Given the description of an element on the screen output the (x, y) to click on. 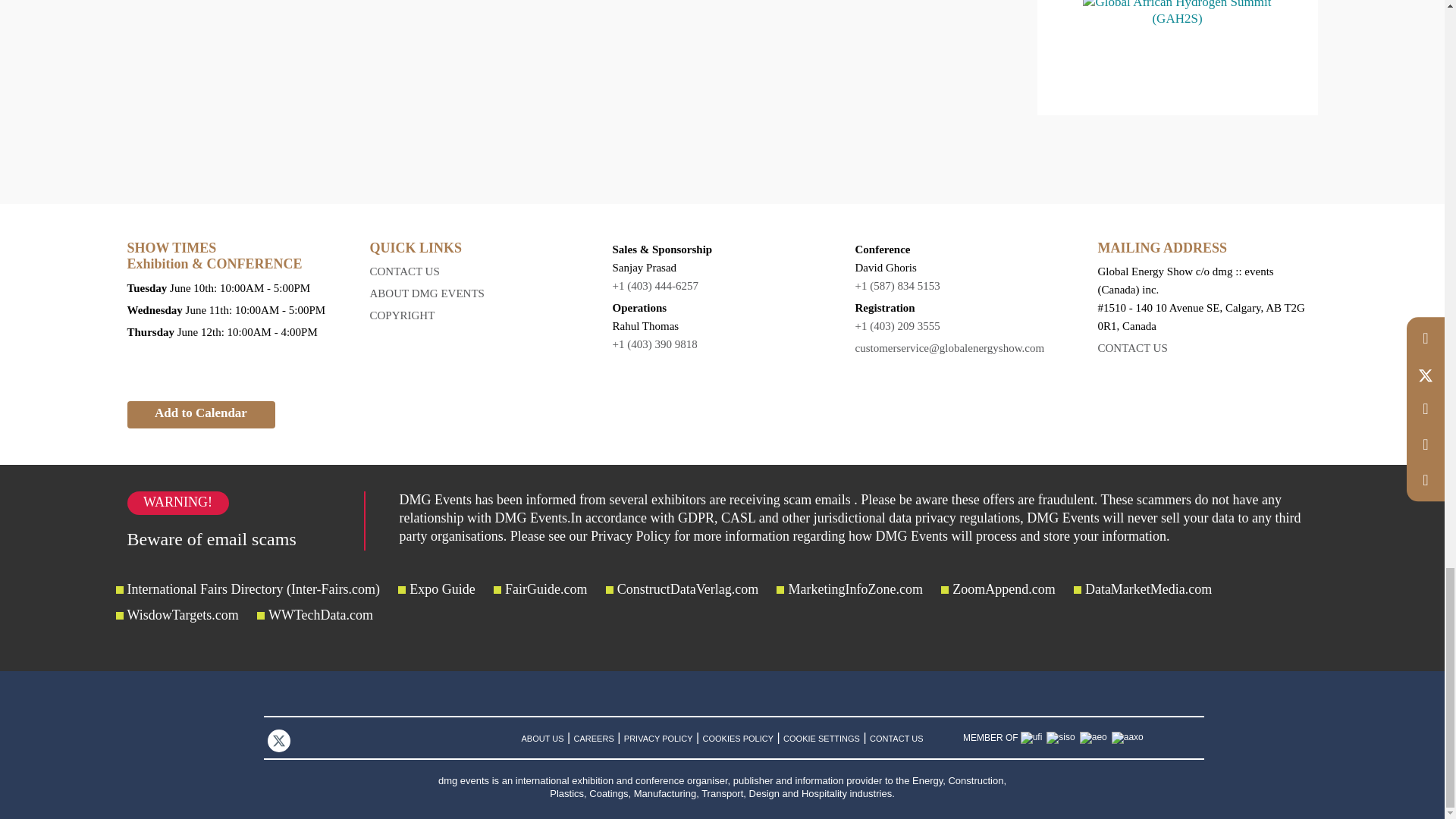
Contact Us (1207, 348)
